Given the description of an element on the screen output the (x, y) to click on. 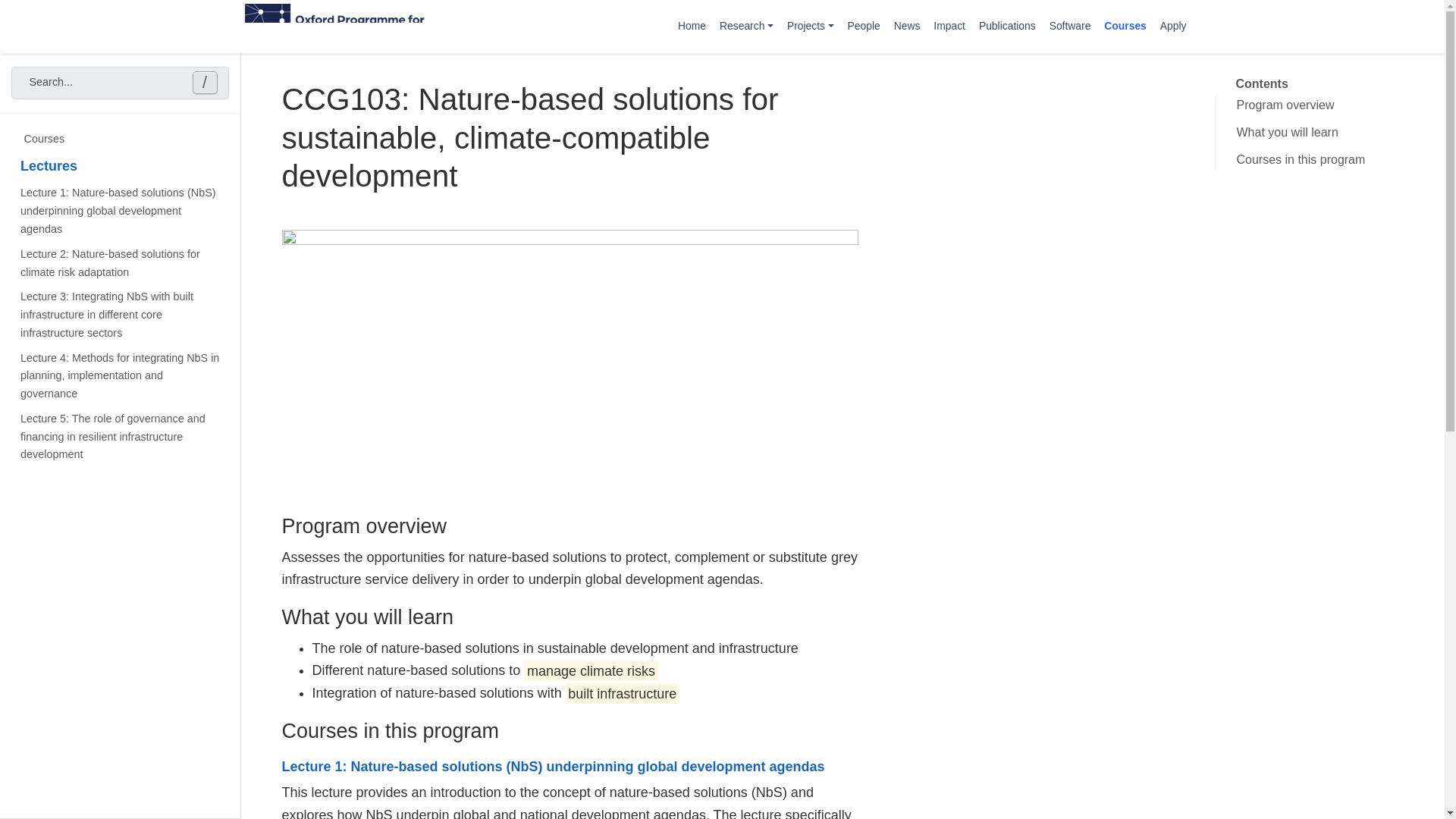
Contents (1260, 84)
Publications (1007, 26)
Home (692, 26)
Program overview (1324, 105)
News (906, 26)
Projects (810, 26)
Lectures (120, 165)
Research (746, 26)
Apply (1173, 26)
Courses (1125, 26)
Impact (949, 26)
Courses (120, 139)
